Given the description of an element on the screen output the (x, y) to click on. 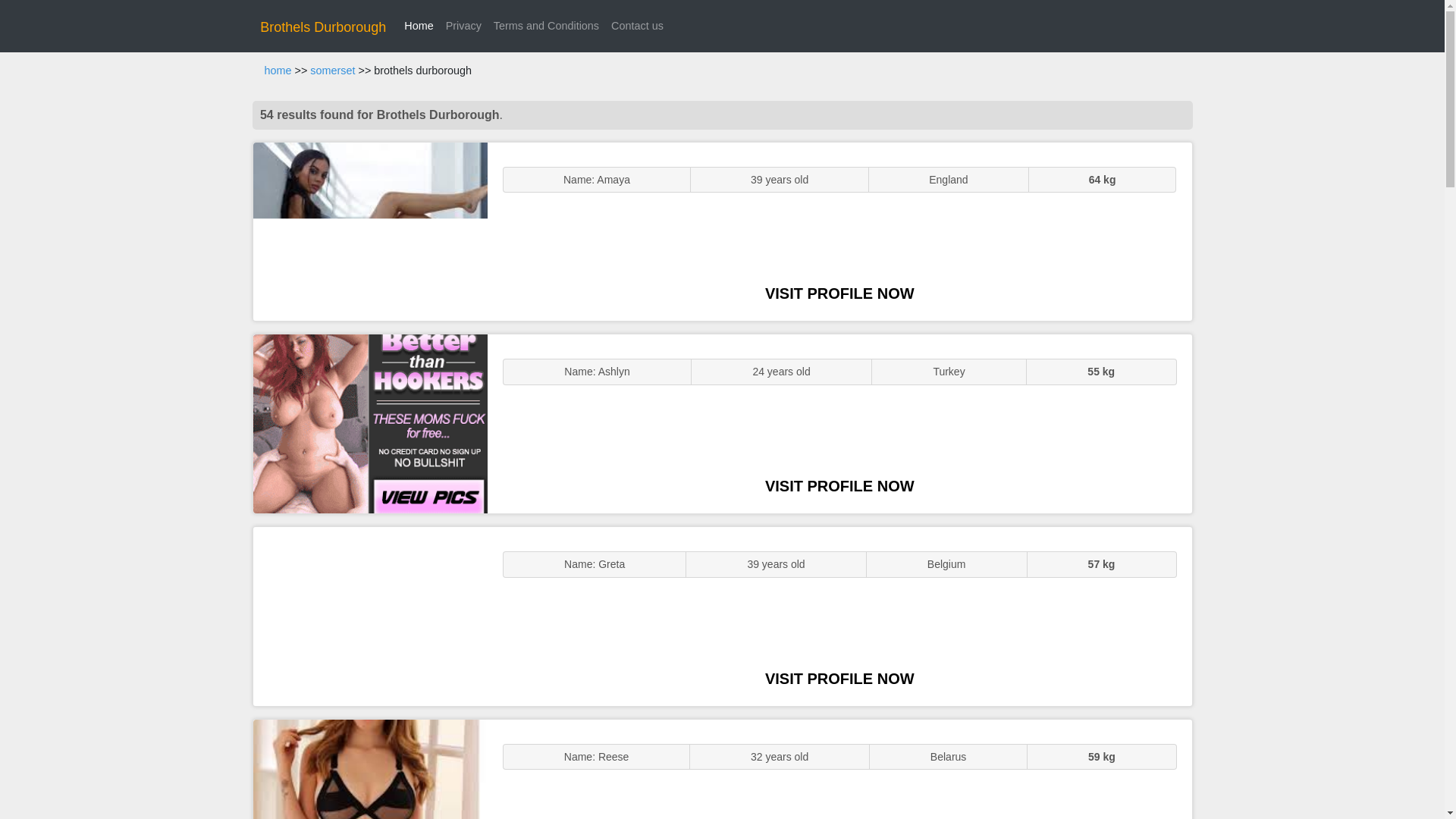
home (277, 70)
VISIT PROFILE NOW (839, 678)
Privacy (463, 25)
VISIT PROFILE NOW (839, 293)
 ENGLISH STUNNER (370, 231)
GFE (370, 423)
Sluts (370, 769)
Brothels Durborough (322, 27)
somerset (332, 70)
Contact us (637, 25)
